Given the description of an element on the screen output the (x, y) to click on. 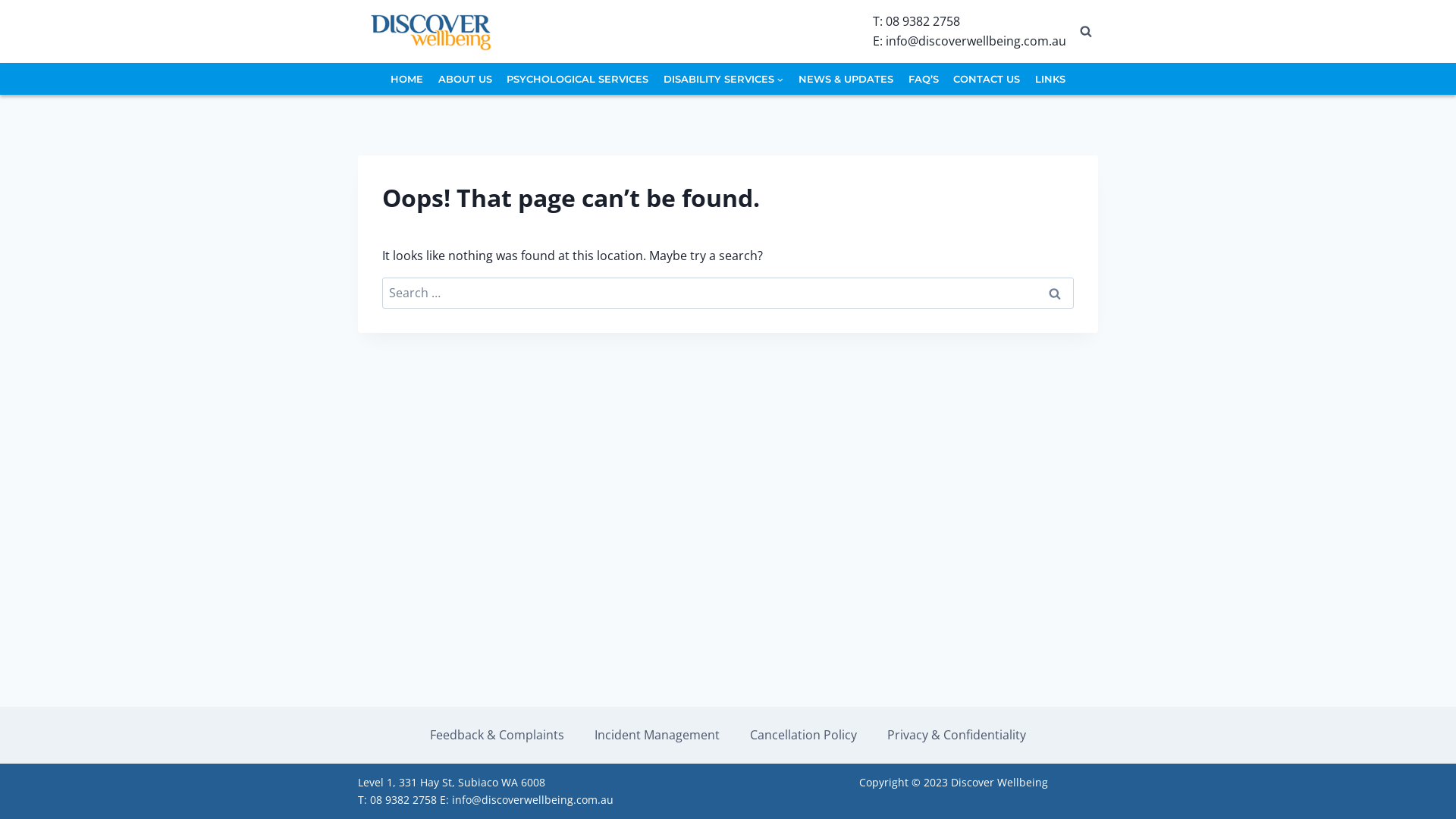
Search Element type: text (1054, 292)
DISABILITY SERVICES Element type: text (723, 78)
HOME Element type: text (407, 78)
CONTACT US Element type: text (987, 78)
info@discoverwellbeing.com.au Element type: text (975, 40)
ABOUT US Element type: text (464, 78)
Privacy & Confidentiality Element type: text (956, 734)
PSYCHOLOGICAL SERVICES Element type: text (576, 78)
NEWS & UPDATES Element type: text (846, 78)
Incident Management Element type: text (656, 734)
LINKS Element type: text (1050, 78)
08 9382 2758 Element type: text (922, 20)
Cancellation Policy Element type: text (803, 734)
Feedback & Complaints Element type: text (496, 734)
